Given the description of an element on the screen output the (x, y) to click on. 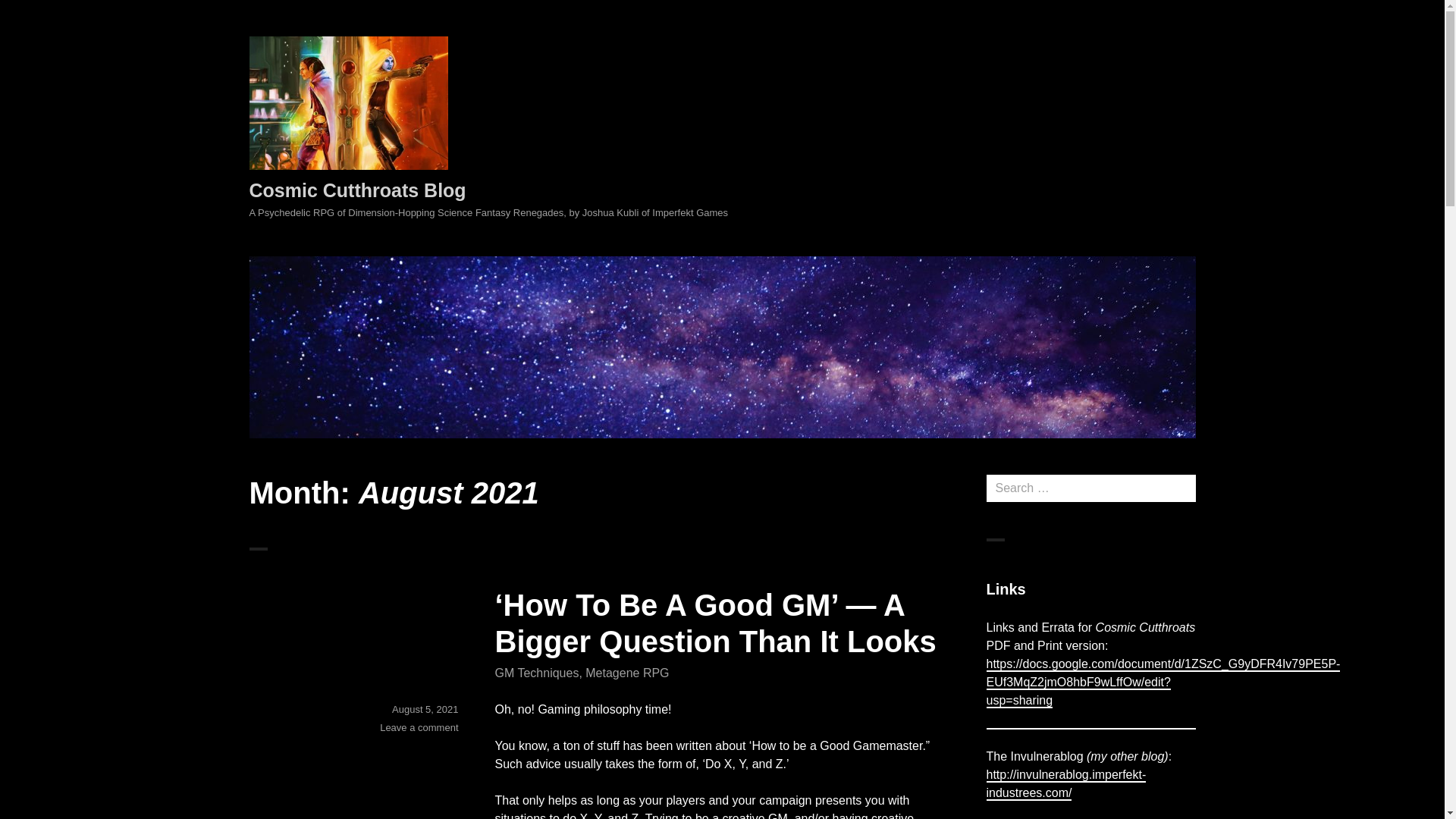
Metagene RPG (626, 672)
Search (28, 13)
Cosmic Cutthroats Blog (356, 189)
GM Techniques (536, 672)
Leave a comment (419, 727)
August 5, 2021 (424, 708)
